Given the description of an element on the screen output the (x, y) to click on. 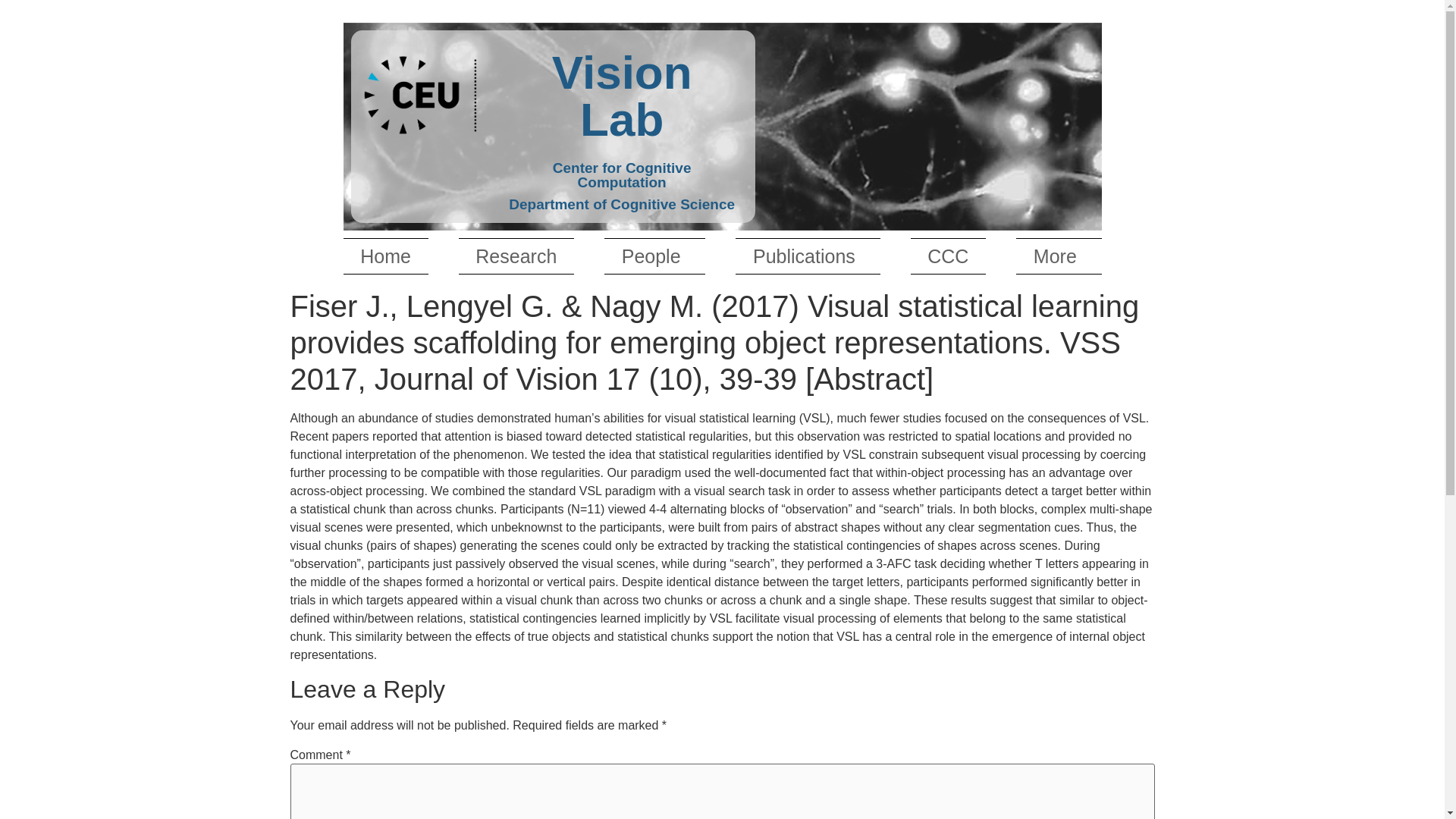
More (1058, 256)
Vision Lab (621, 90)
Research (515, 256)
Department of Cognitive Science (621, 204)
Home (385, 256)
People (654, 256)
Center for Cognitive Computation (621, 175)
CCC (949, 256)
Publications (807, 256)
